Given the description of an element on the screen output the (x, y) to click on. 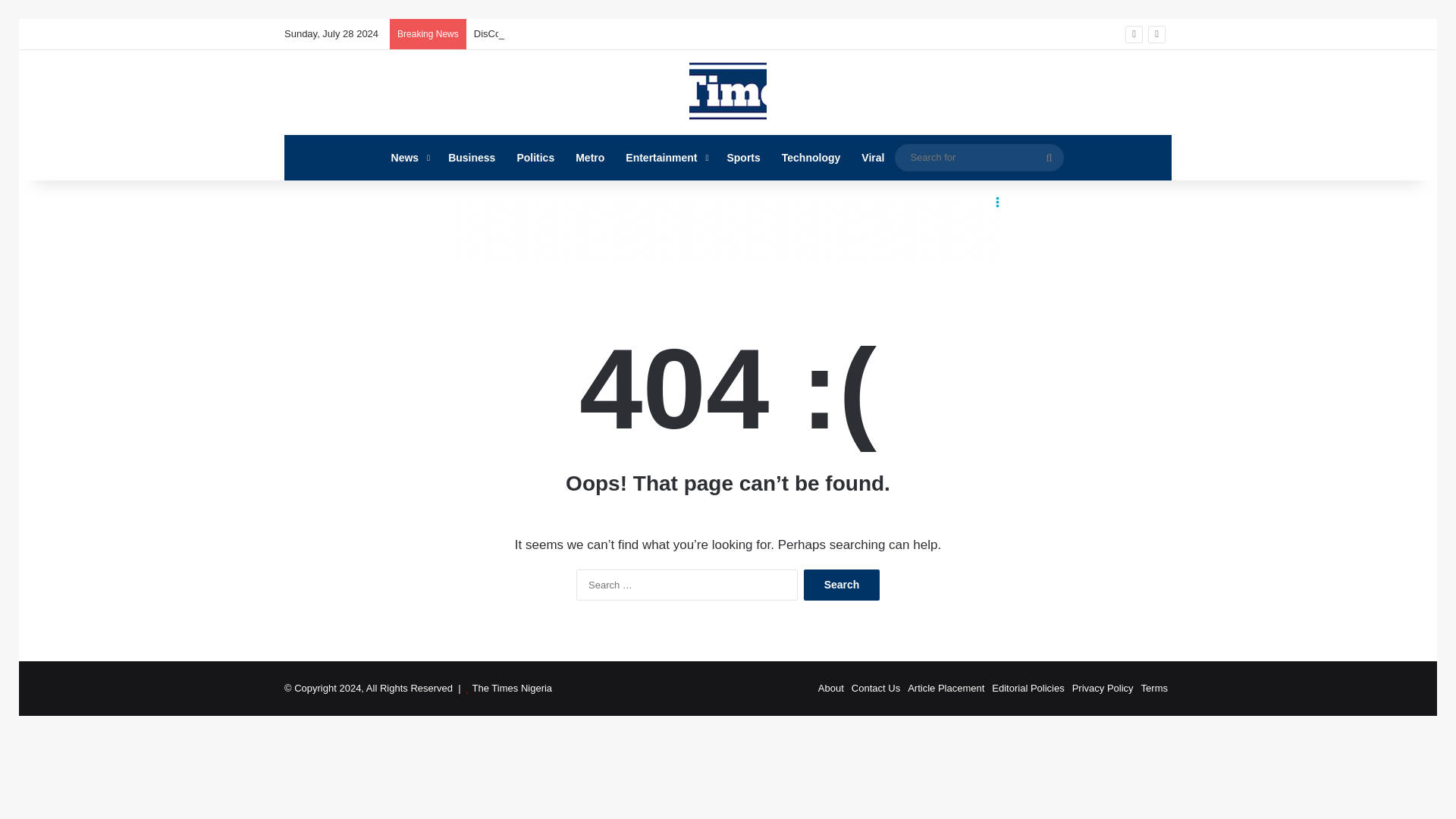
Search (841, 584)
Article Placement (945, 687)
TheTimes.com.ng (727, 92)
Privacy Policy (1102, 687)
3rd party ad content (727, 229)
Search for (1048, 157)
Terms (1154, 687)
Contact Us (875, 687)
Entertainment (665, 157)
Search for (979, 157)
Search (841, 584)
News (409, 157)
Politics (534, 157)
Technology (811, 157)
Search (841, 584)
